Given the description of an element on the screen output the (x, y) to click on. 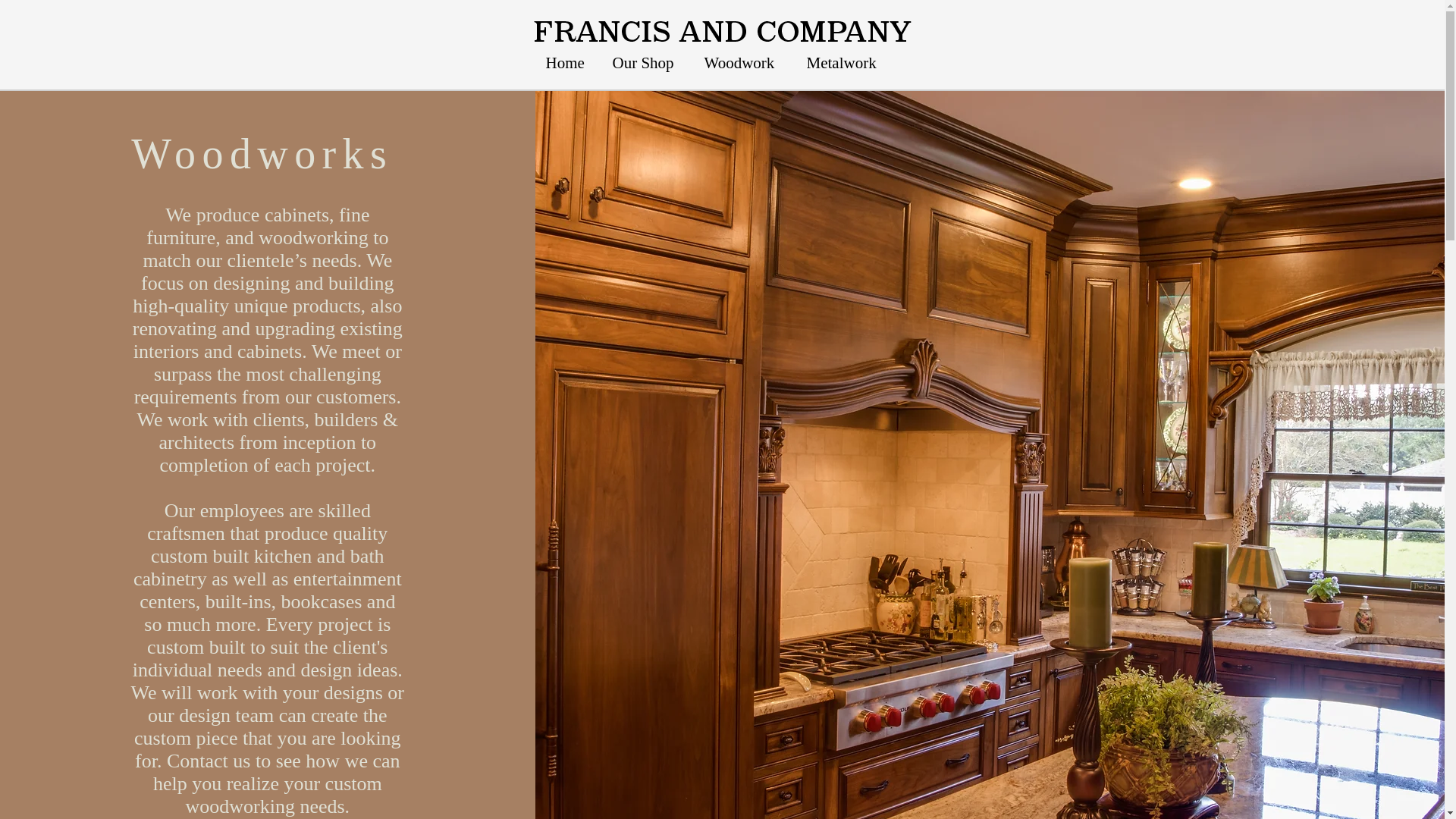
Metalwork (845, 62)
Woodwork (743, 62)
Home (566, 62)
Our Shop (646, 62)
